Given the description of an element on the screen output the (x, y) to click on. 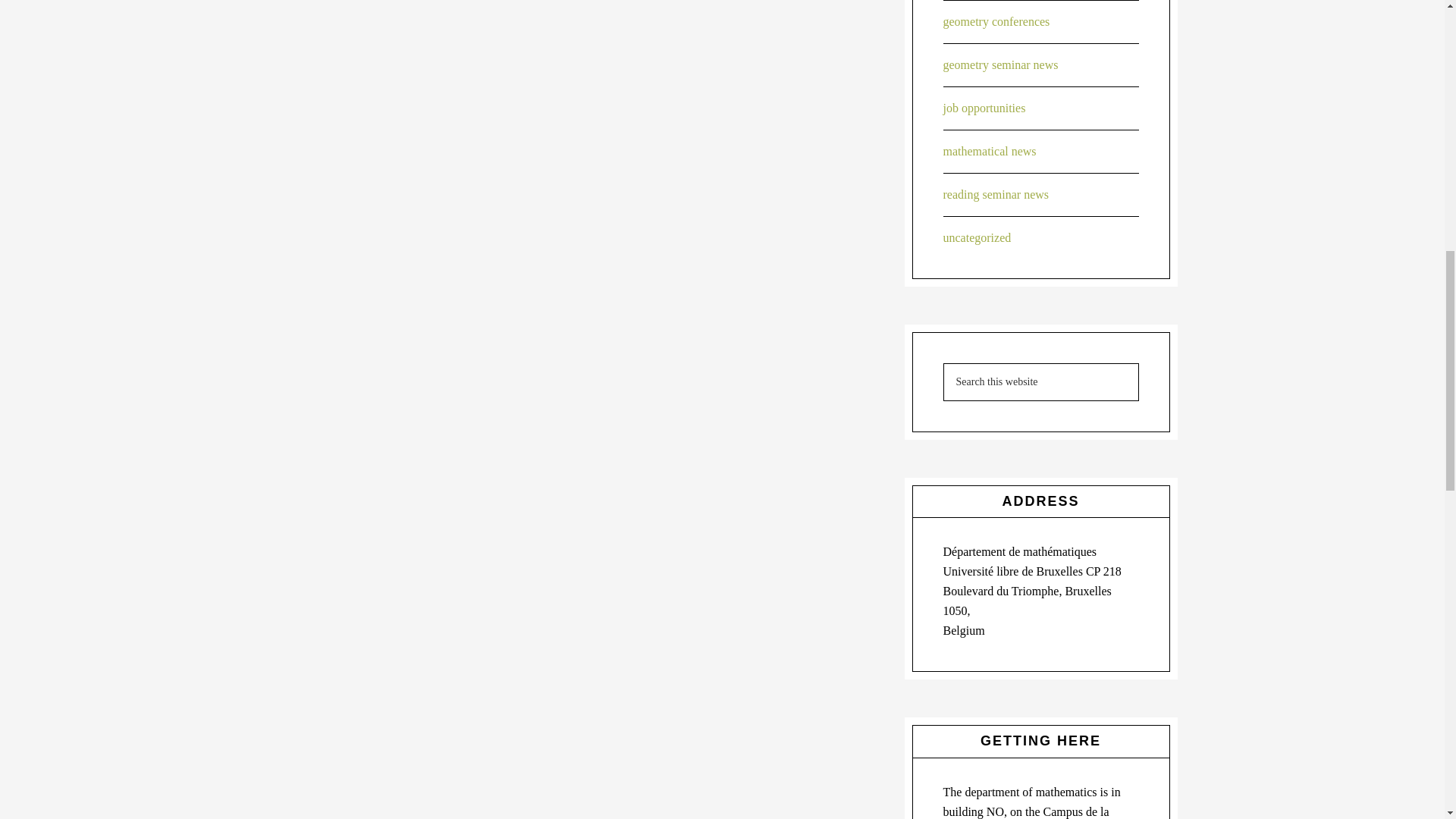
uncategorized (977, 237)
reading seminar news (996, 194)
mathematical news (989, 151)
geometry seminar news (1000, 64)
job opportunities (984, 107)
geometry conferences (996, 21)
